Given the description of an element on the screen output the (x, y) to click on. 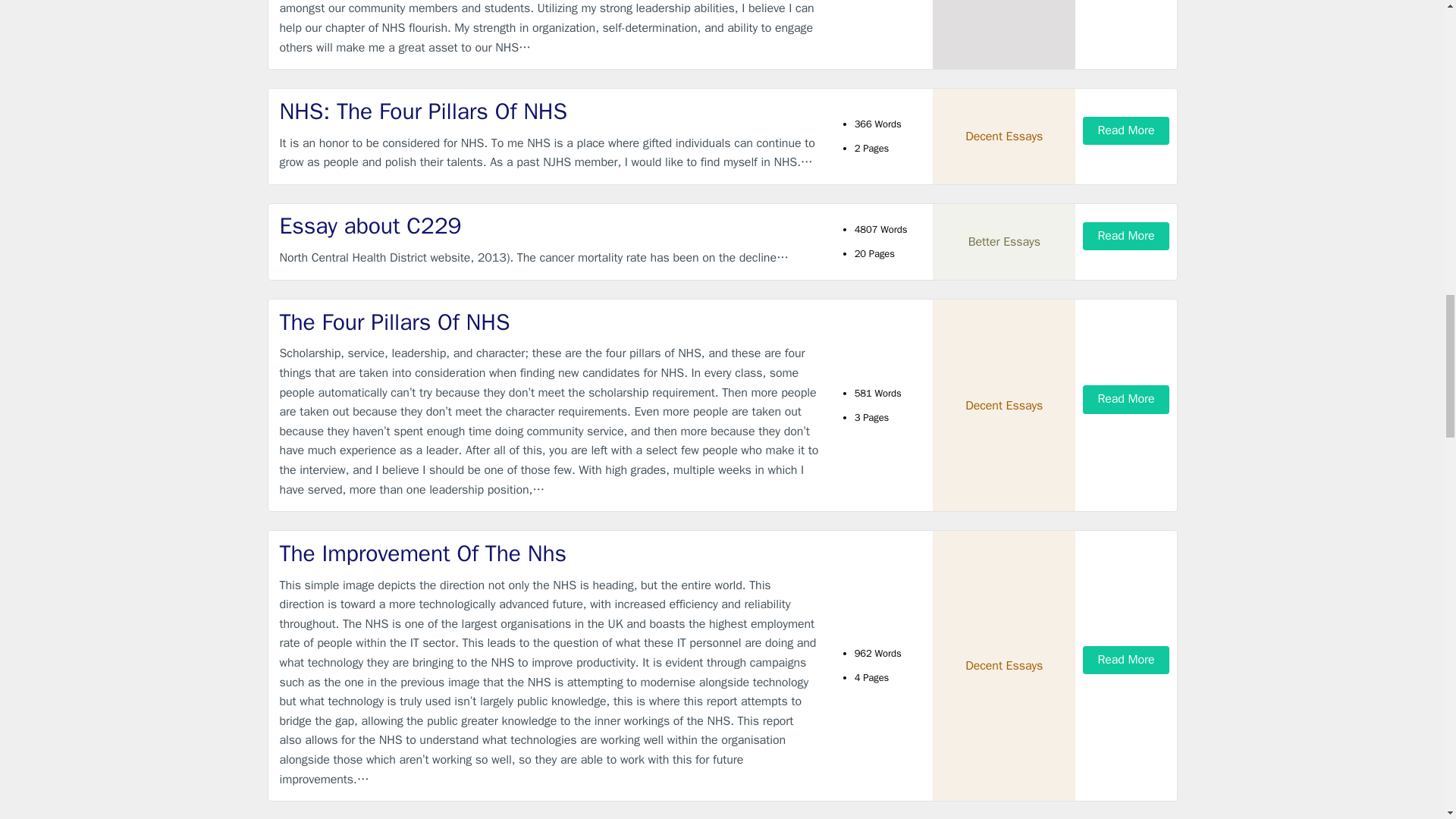
The Improvement Of The Nhs (548, 553)
Read More (1126, 398)
Read More (1126, 130)
NHS: The Four Pillars Of NHS (548, 111)
Essay about C229 (548, 225)
The Four Pillars Of NHS (548, 322)
Read More (1126, 235)
Read More (1126, 660)
